Given the description of an element on the screen output the (x, y) to click on. 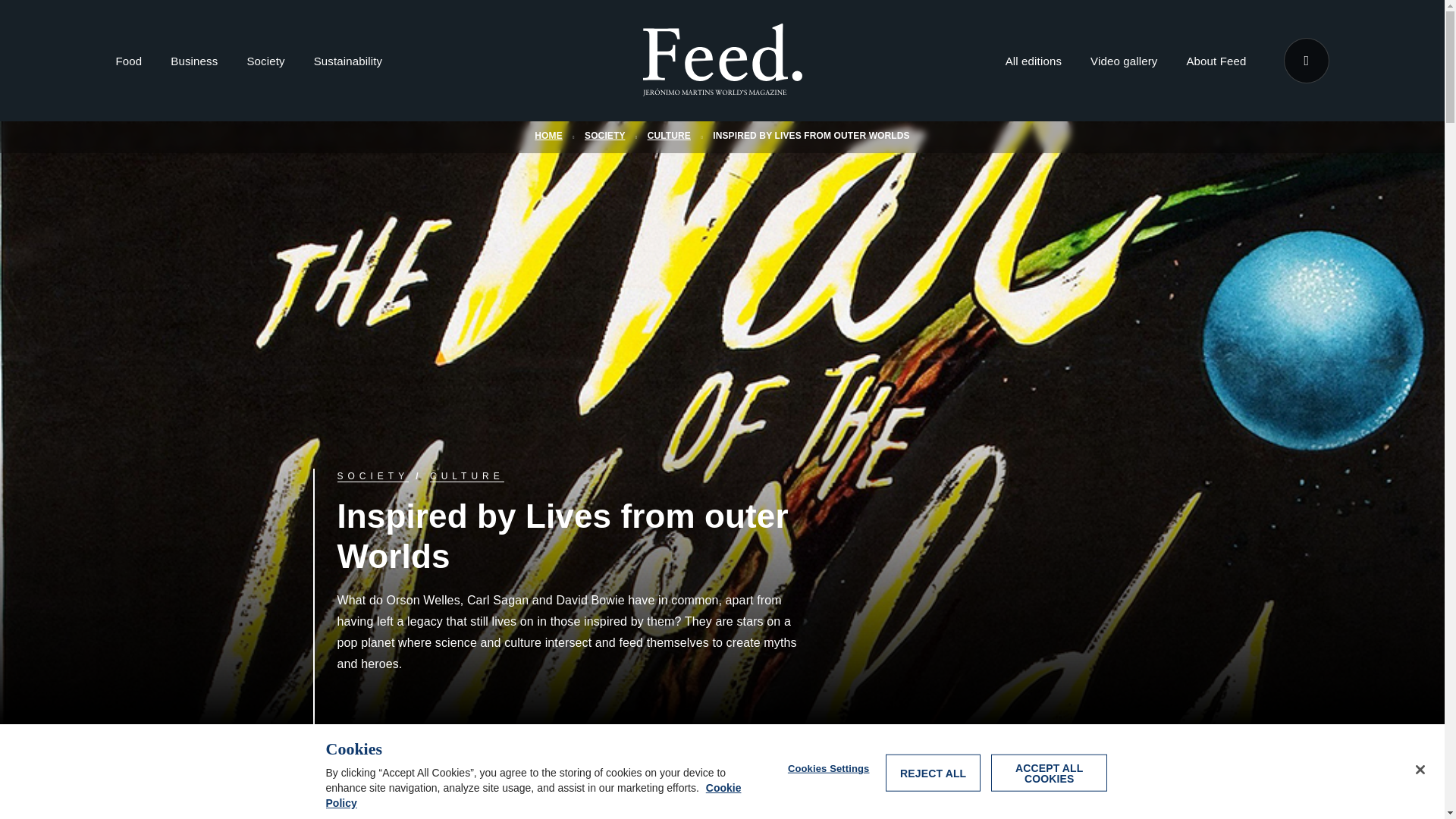
Go to homepage (722, 86)
Food (128, 63)
Homepage (722, 60)
Business (193, 63)
Society (264, 63)
